Given the description of an element on the screen output the (x, y) to click on. 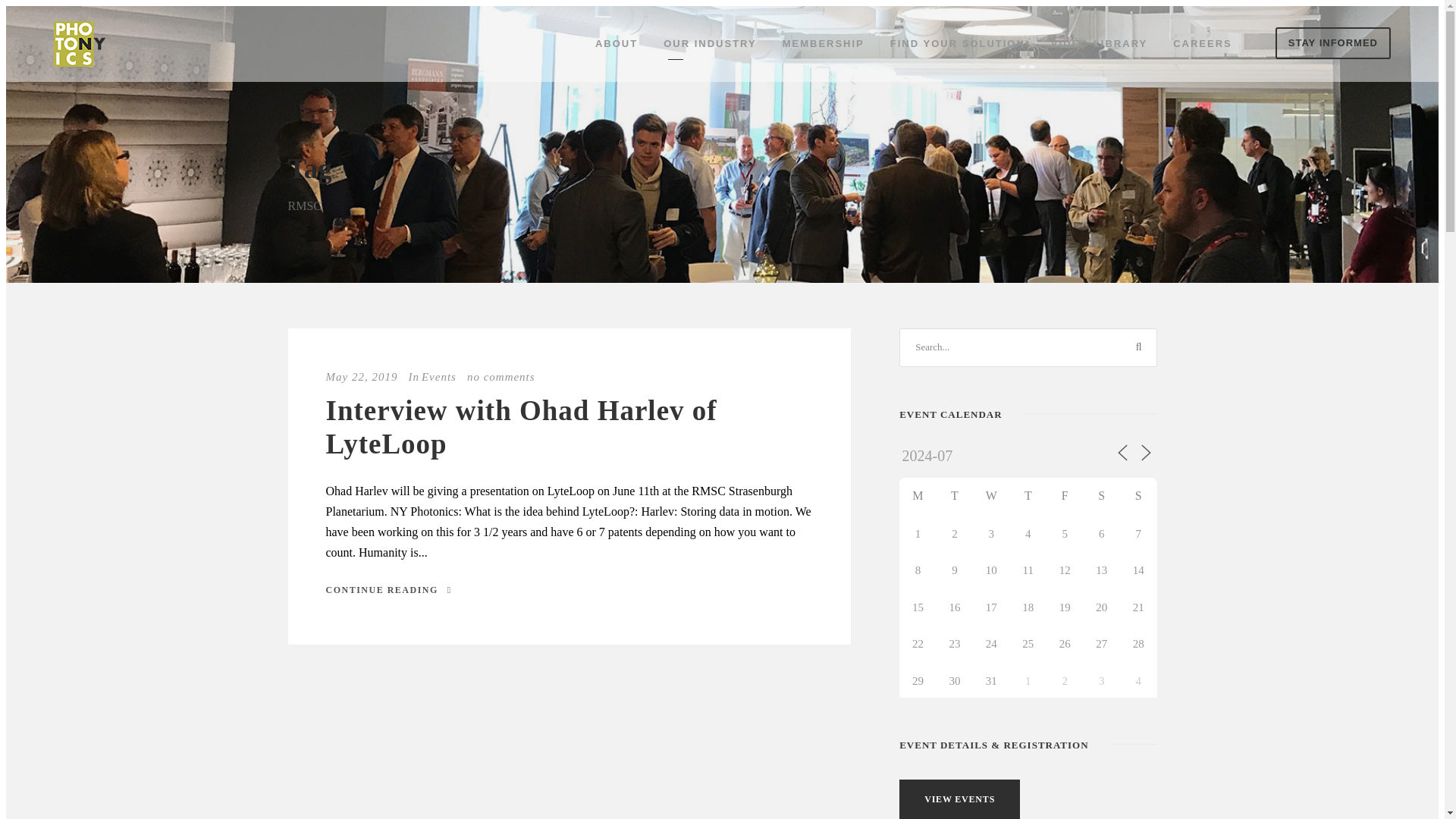
2024-07 (953, 455)
OUR INDUSTRY (709, 47)
VIDEO LIBRARY (1099, 47)
MEMBERSHIP (823, 47)
ABOUT (616, 47)
STAY INFORMED (1332, 42)
FIND YOUR SOLUTION (957, 47)
CAREERS (1202, 47)
